Given the description of an element on the screen output the (x, y) to click on. 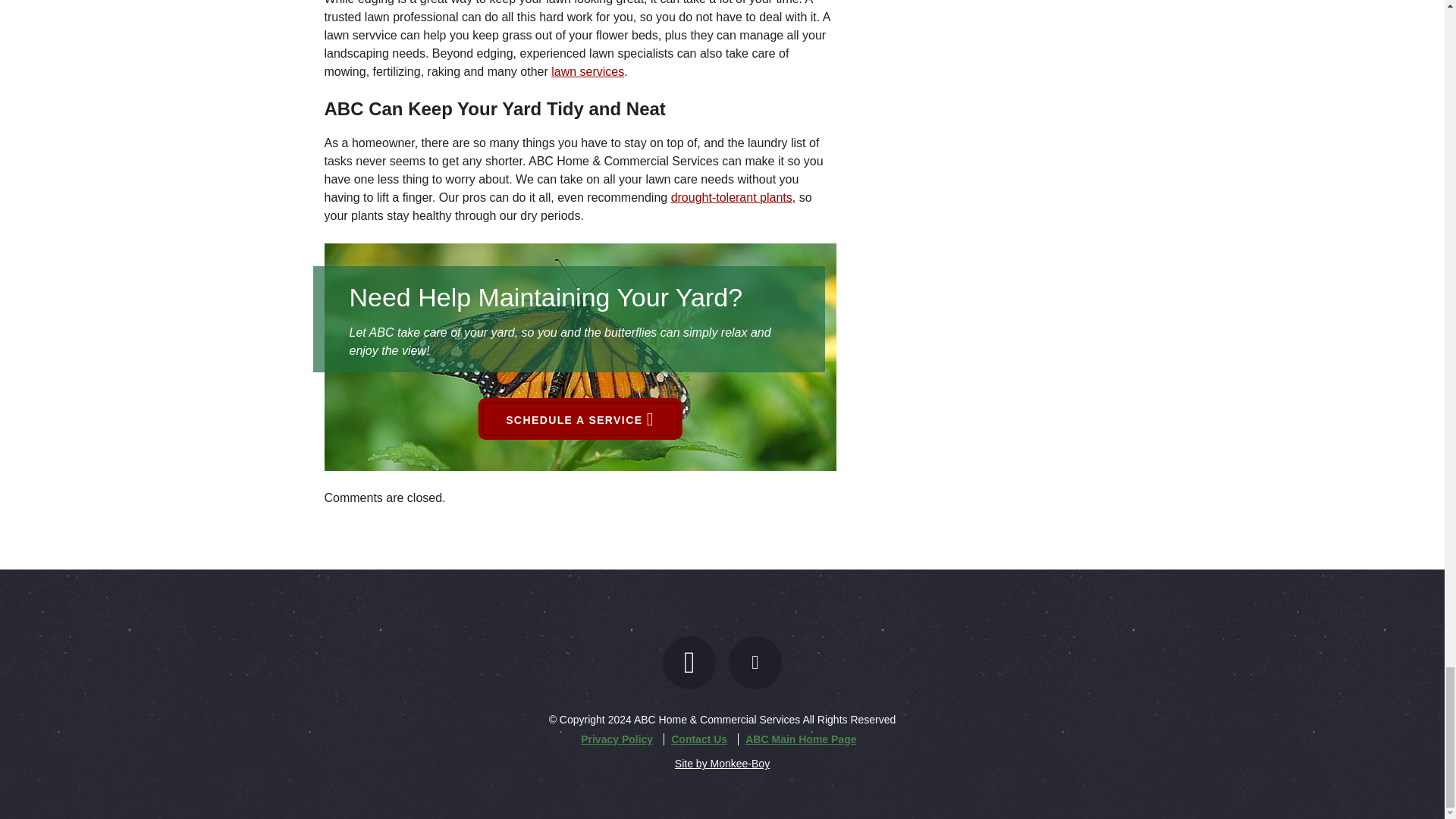
drought-tolerant plants (731, 196)
lawn services (587, 71)
